Given the description of an element on the screen output the (x, y) to click on. 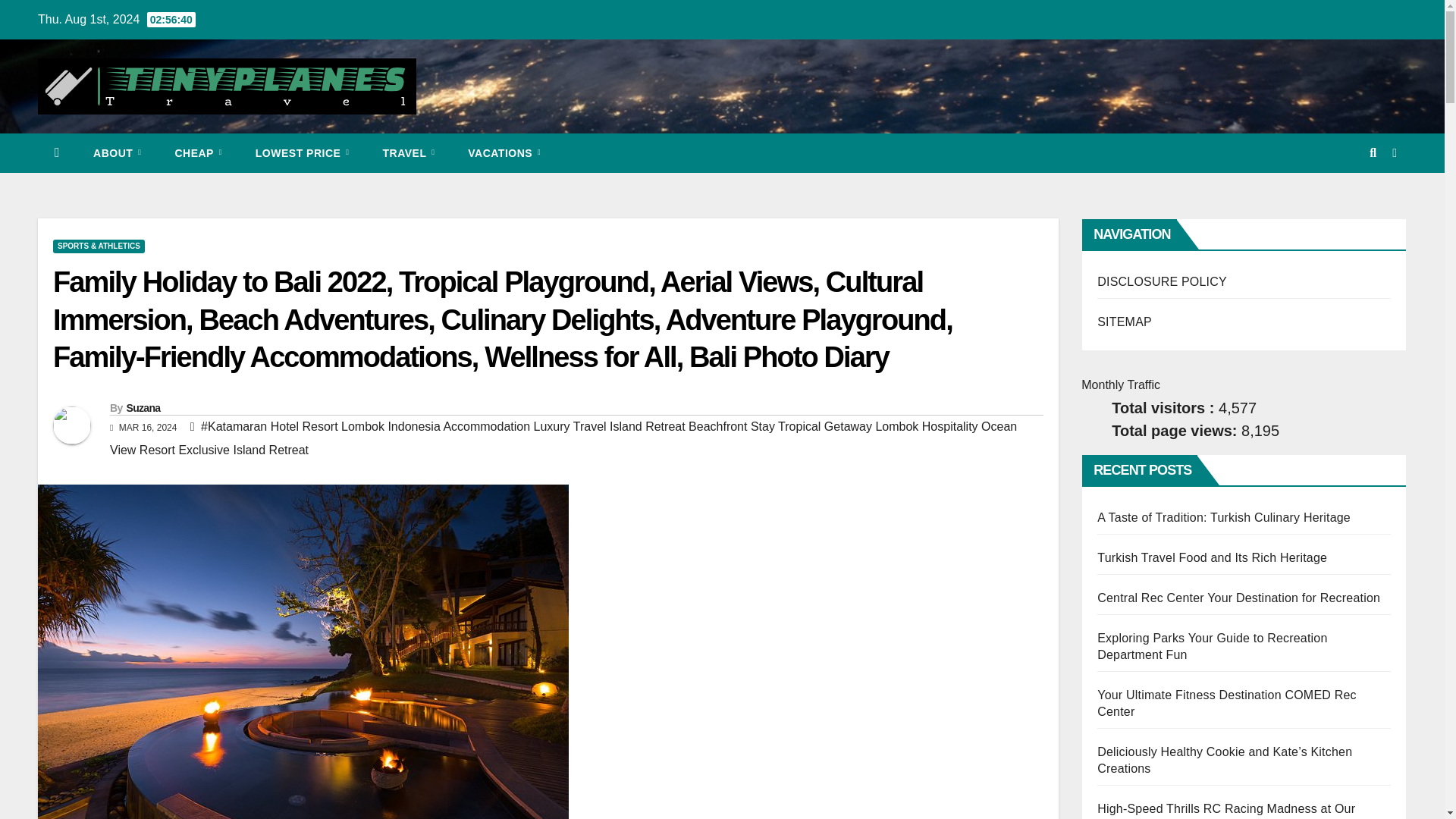
ABOUT (117, 152)
TRAVEL (408, 152)
Lowest Price (302, 152)
LOWEST PRICE (302, 152)
CHEAP (197, 152)
VACATIONS (504, 152)
About (117, 152)
Cheap (197, 152)
